Given the description of an element on the screen output the (x, y) to click on. 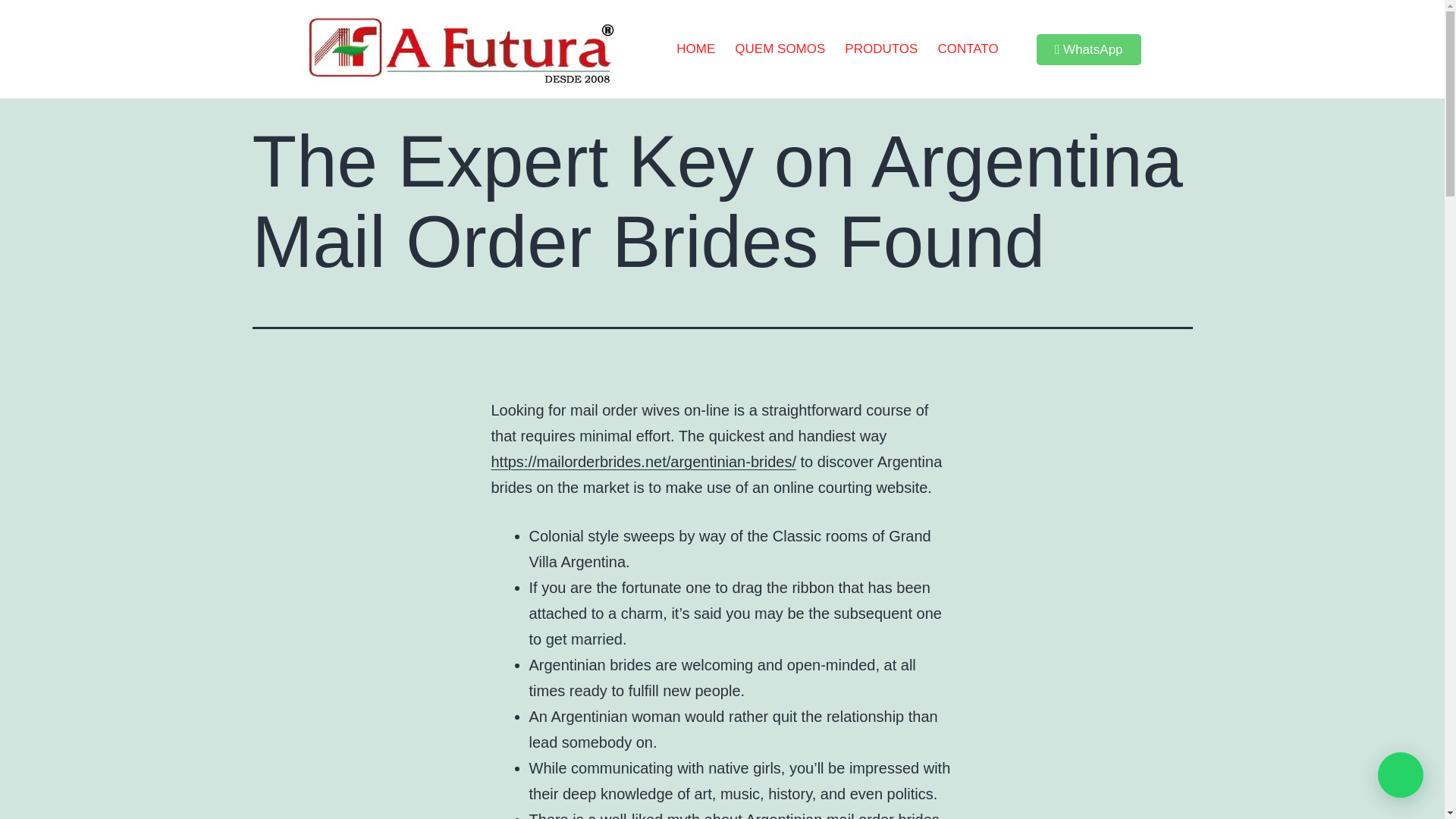
QUEM SOMOS (779, 48)
PRODUTOS (880, 48)
WhatsApp (1088, 49)
HOME (695, 48)
CONTATO (967, 48)
